Given the description of an element on the screen output the (x, y) to click on. 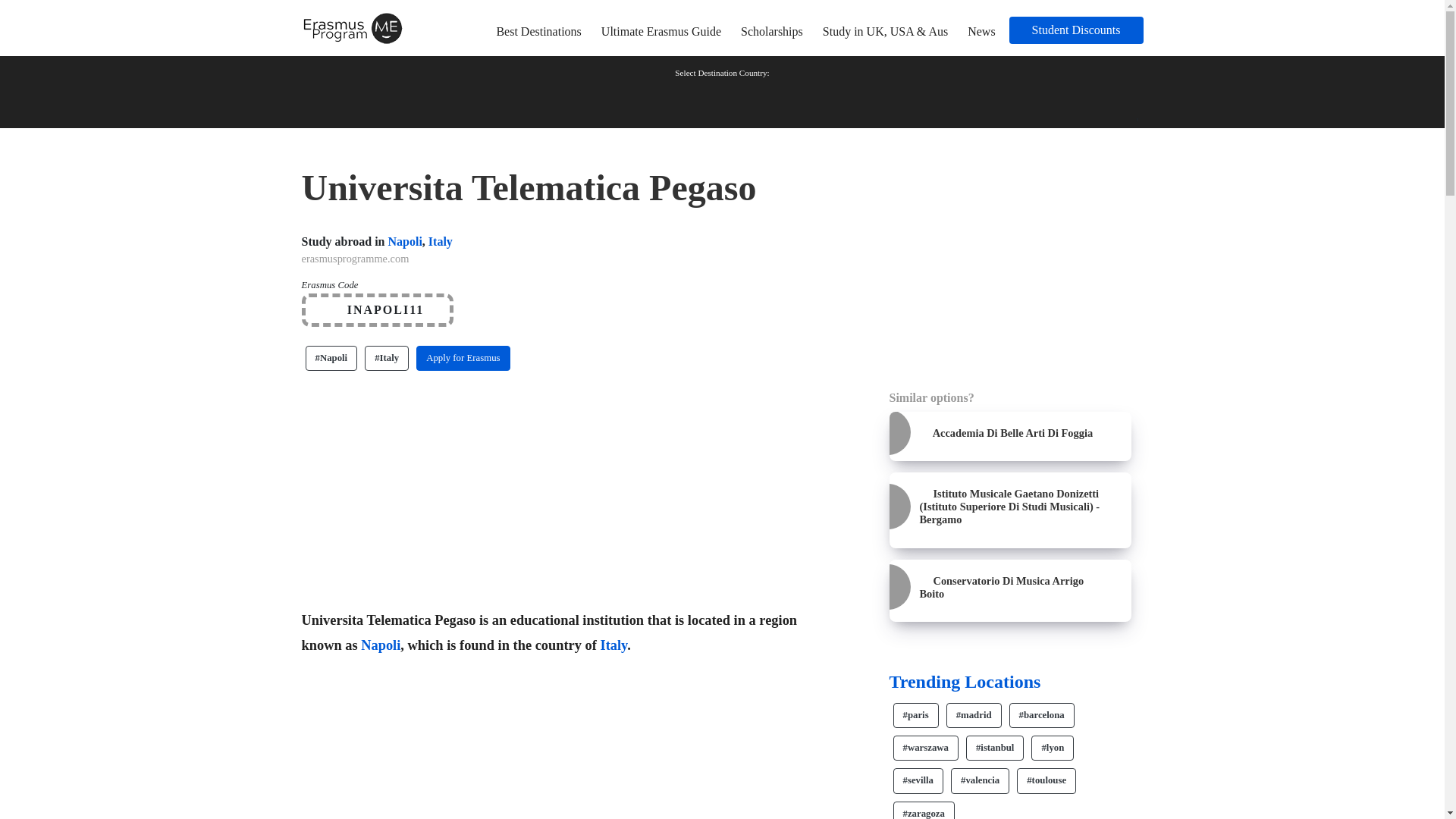
Ultimate Erasmus Guide (660, 31)
News (980, 31)
Scholarships (772, 31)
Best Destinations (537, 31)
Student Discounts (1075, 30)
